Given the description of an element on the screen output the (x, y) to click on. 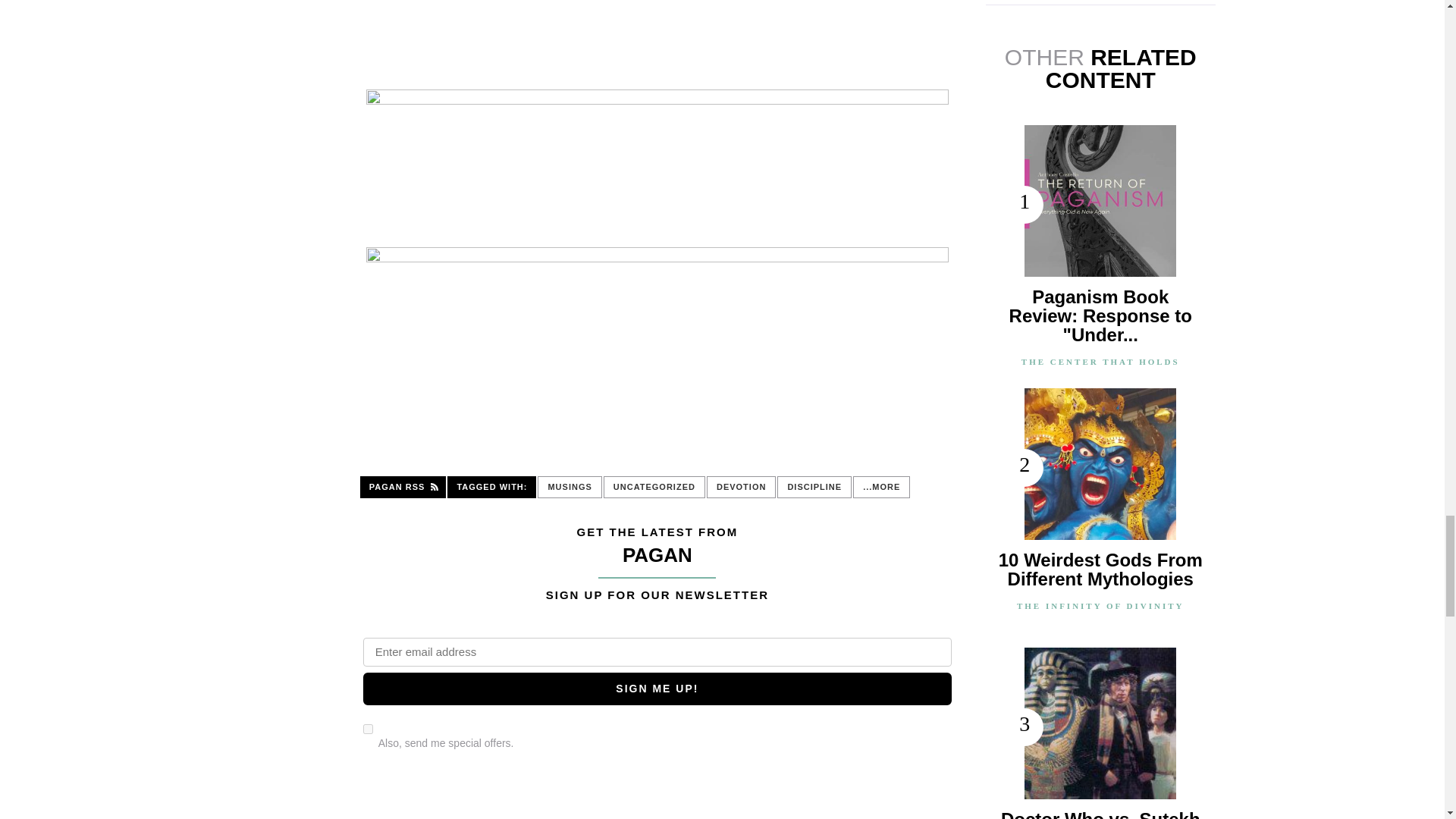
true (367, 728)
Sign me up! (657, 688)
